Given the description of an element on the screen output the (x, y) to click on. 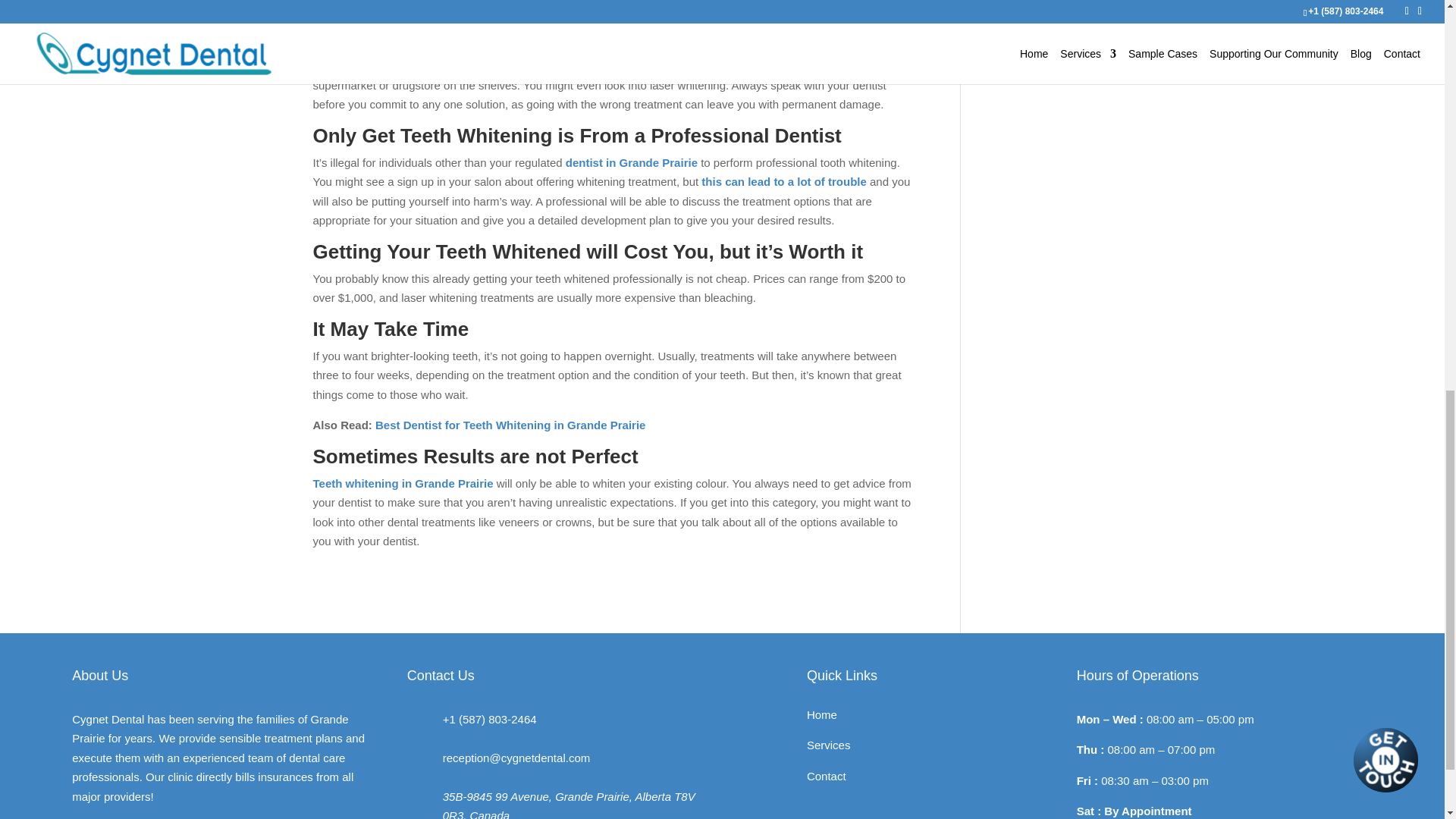
dental office (501, 46)
